Given the description of an element on the screen output the (x, y) to click on. 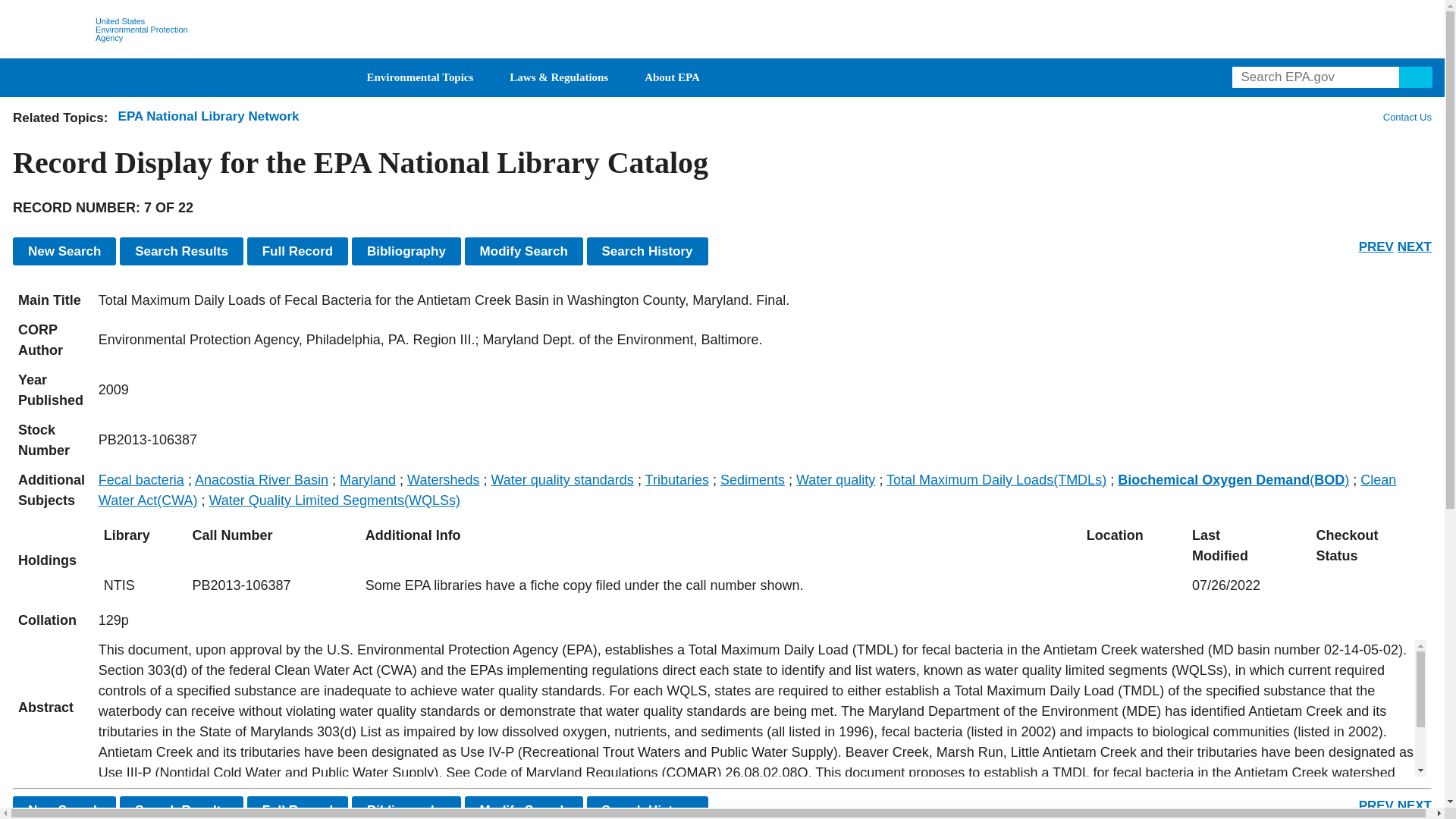
US EPA (50, 29)
Display Full Record (298, 807)
Show results in bibliographic format (406, 251)
Learn about Environmental Topics that EPA covers. (420, 77)
Search (1415, 76)
Create a New Search (64, 807)
About EPA (671, 77)
Water quality (835, 479)
Environmental Topics (420, 77)
